Given the description of an element on the screen output the (x, y) to click on. 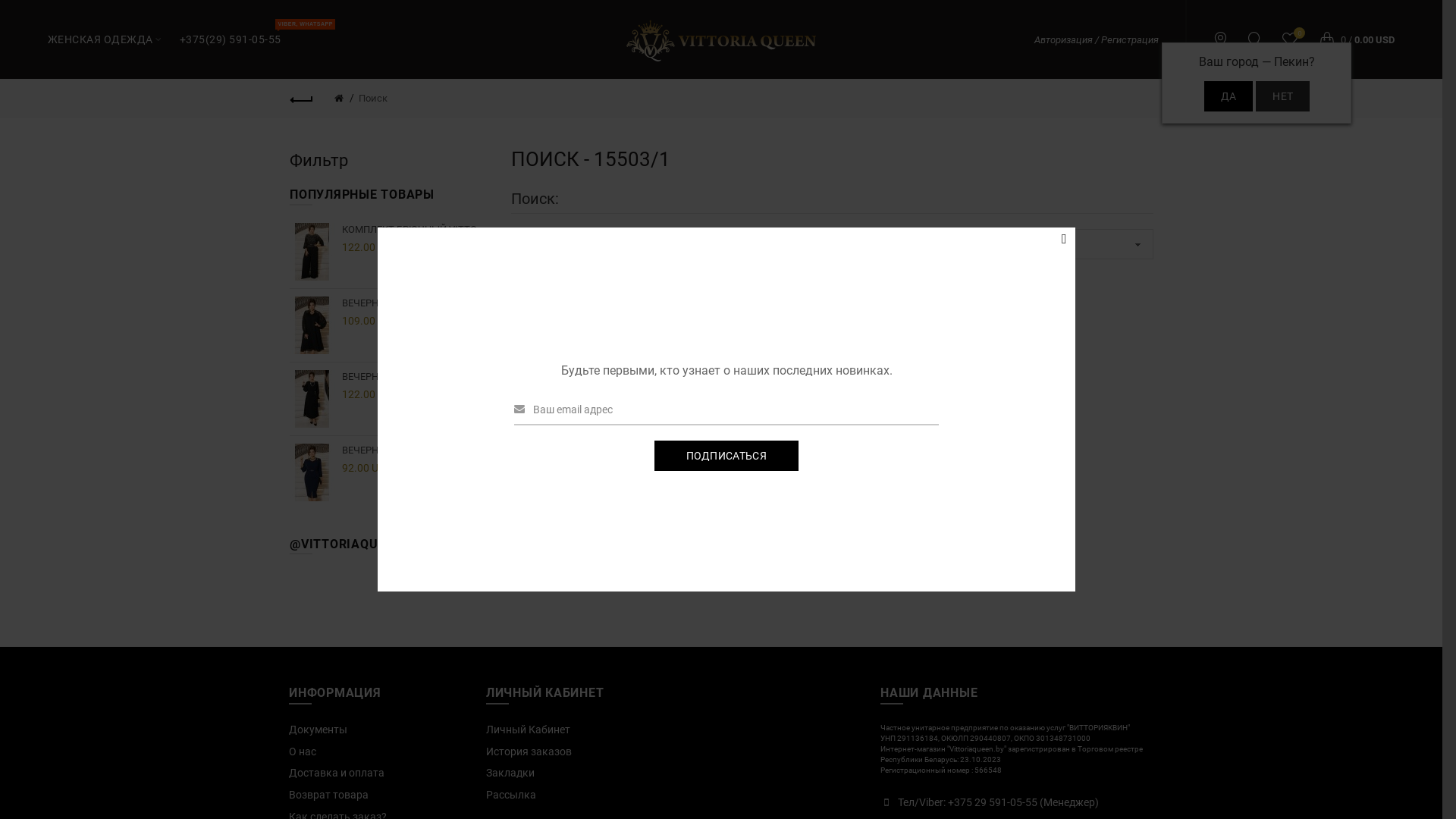
0 / 0.00 USD Element type: text (1352, 39)
0 Element type: text (1291, 39)
+375(29) 591-05-55
VIBER, WHATSAPP Element type: text (230, 39)
Vittoriaqueen Element type: hover (720, 40)
